Given the description of an element on the screen output the (x, y) to click on. 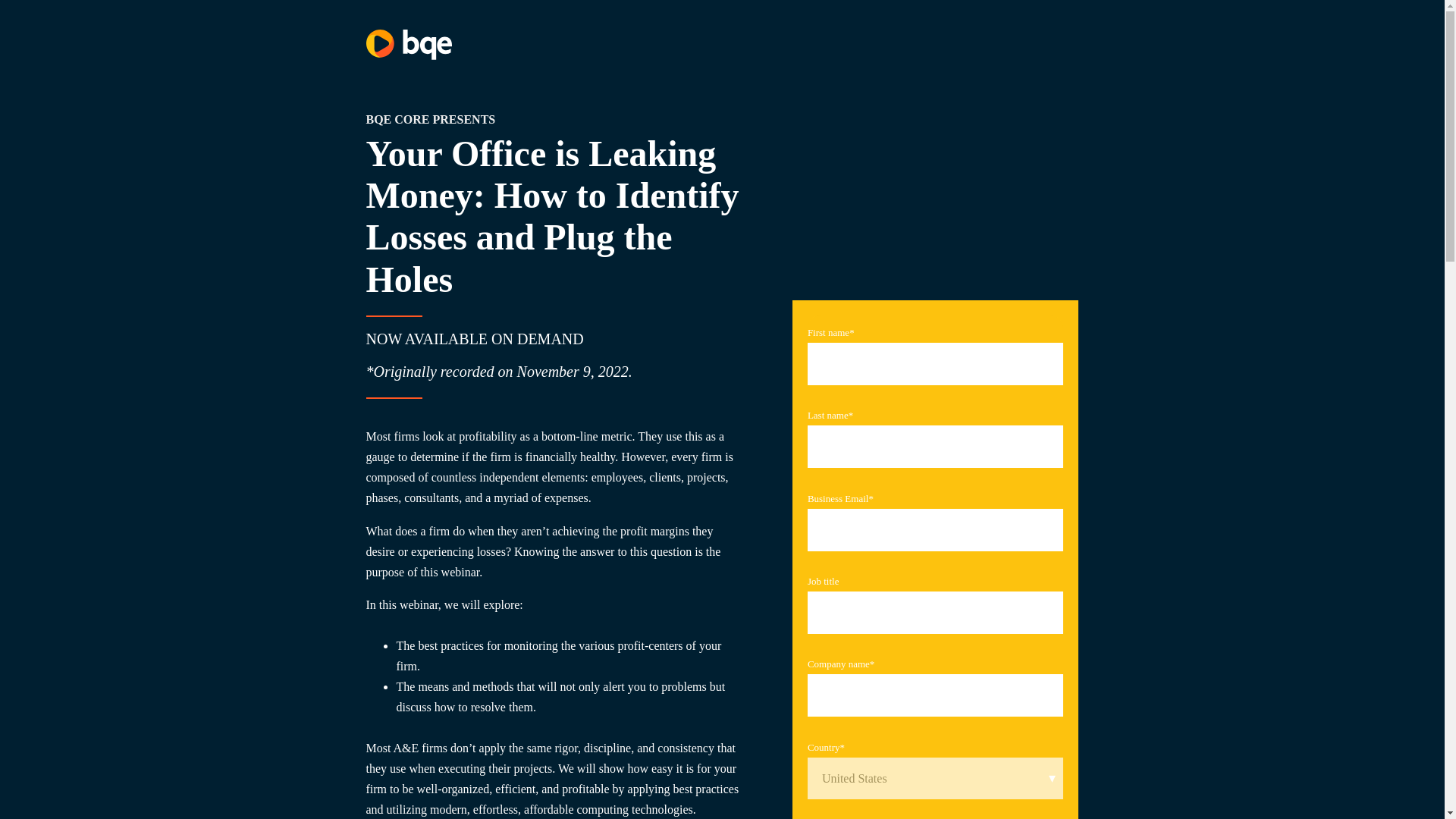
footer-logo (408, 44)
